Given the description of an element on the screen output the (x, y) to click on. 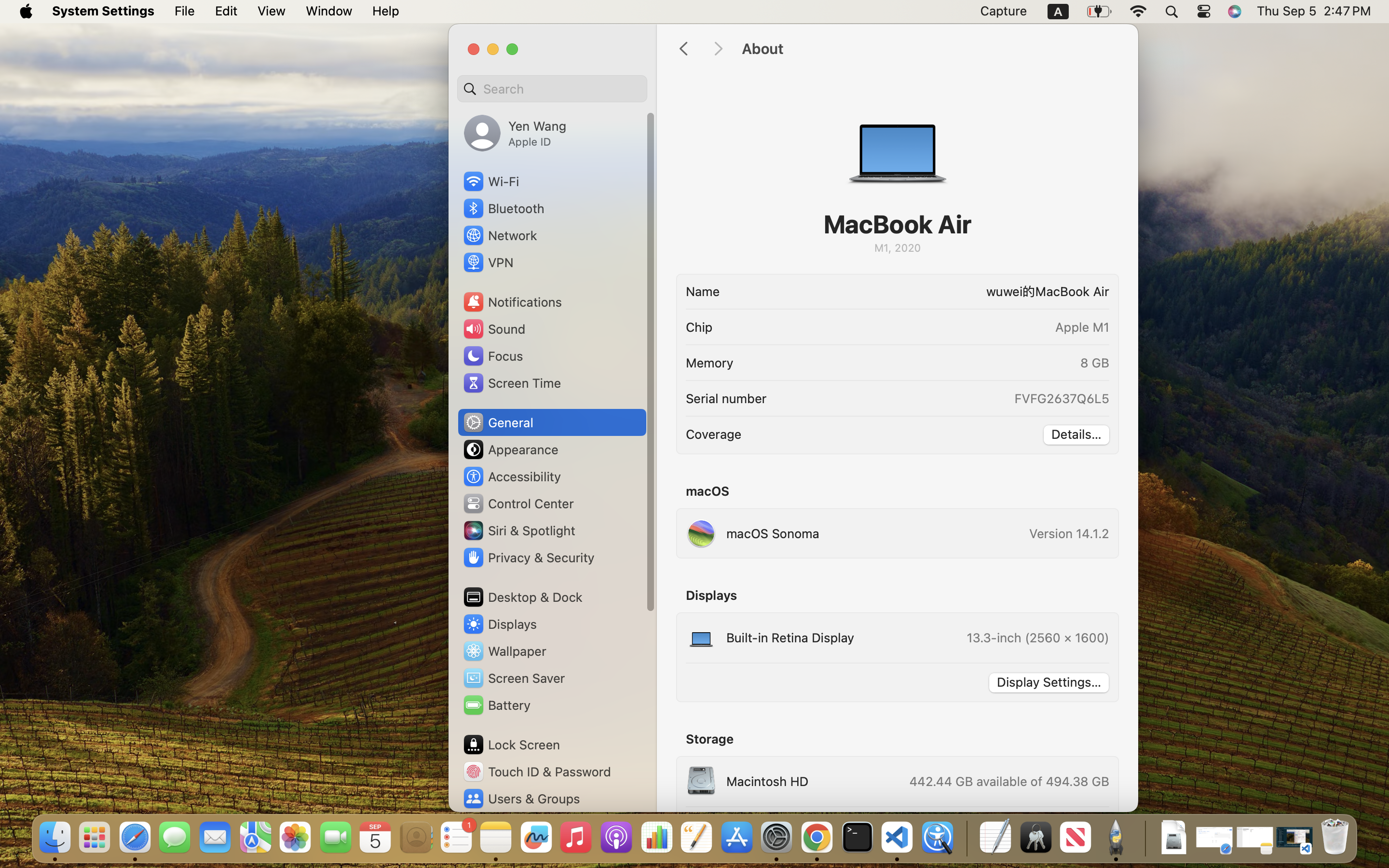
Displays Element type: AXStaticText (499, 623)
0.4285714328289032 Element type: AXDockItem (965, 837)
MacBook Air Element type: AXStaticText (897, 224)
442.44 GB available of 494.38 GB Element type: AXStaticText (1008, 780)
Chip Element type: AXStaticText (698, 326)
